Given the description of an element on the screen output the (x, y) to click on. 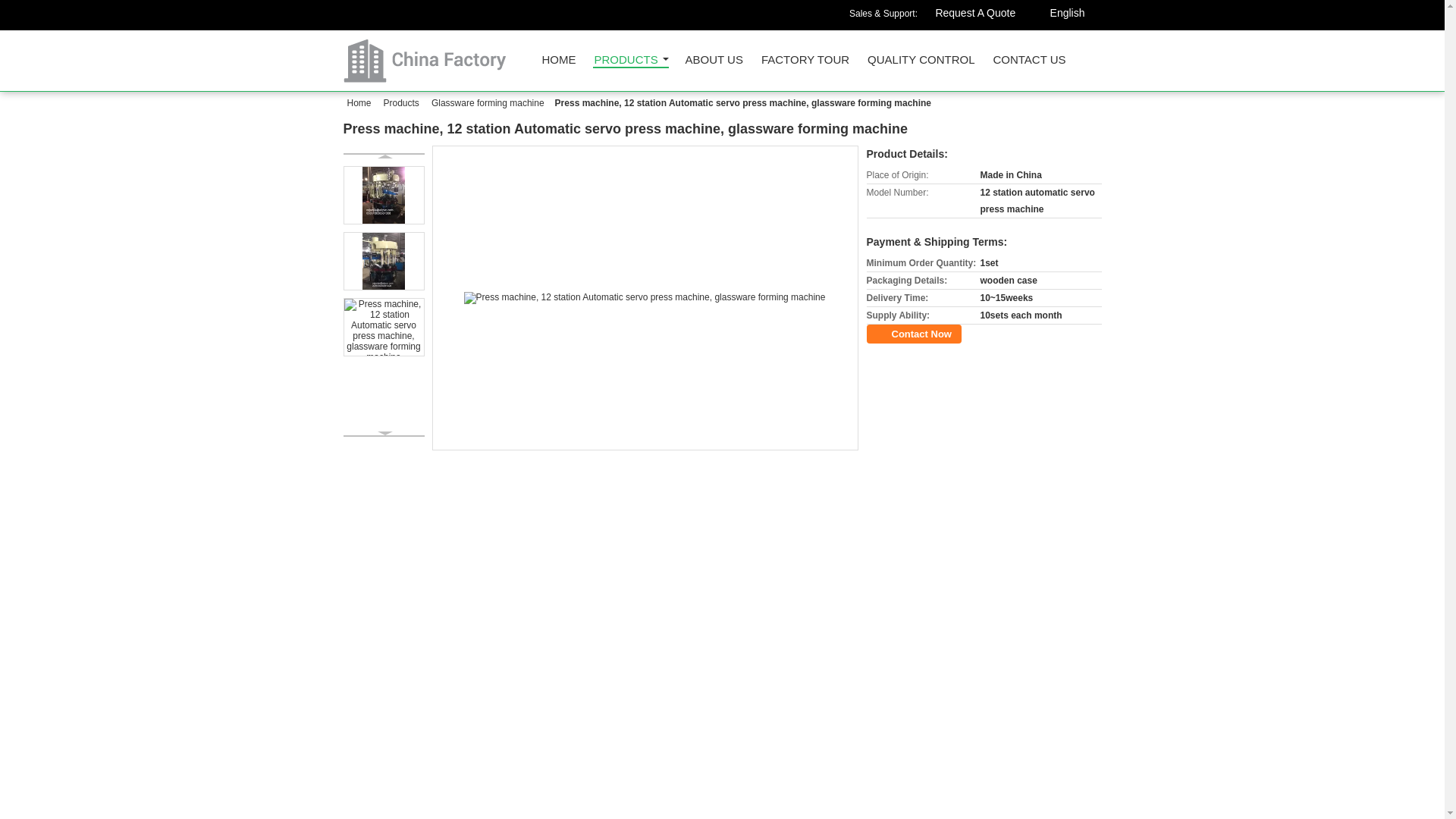
FACTORY TOUR (805, 63)
CHONGQING YANGTIAN ENGINEERING AND TECHNOLOGY CO.,LTD. (630, 60)
ABOUT US (714, 63)
CHONGQING YANGTIAN ENGINEERING AND TECHNOLOGY CO.,LTD. (558, 63)
English (1067, 11)
Request A Quote (974, 15)
CHONGQING YANGTIAN ENGINEERING AND TECHNOLOGY CO.,LTD. (974, 15)
HOME (558, 63)
PRODUCTS (630, 60)
